Given the description of an element on the screen output the (x, y) to click on. 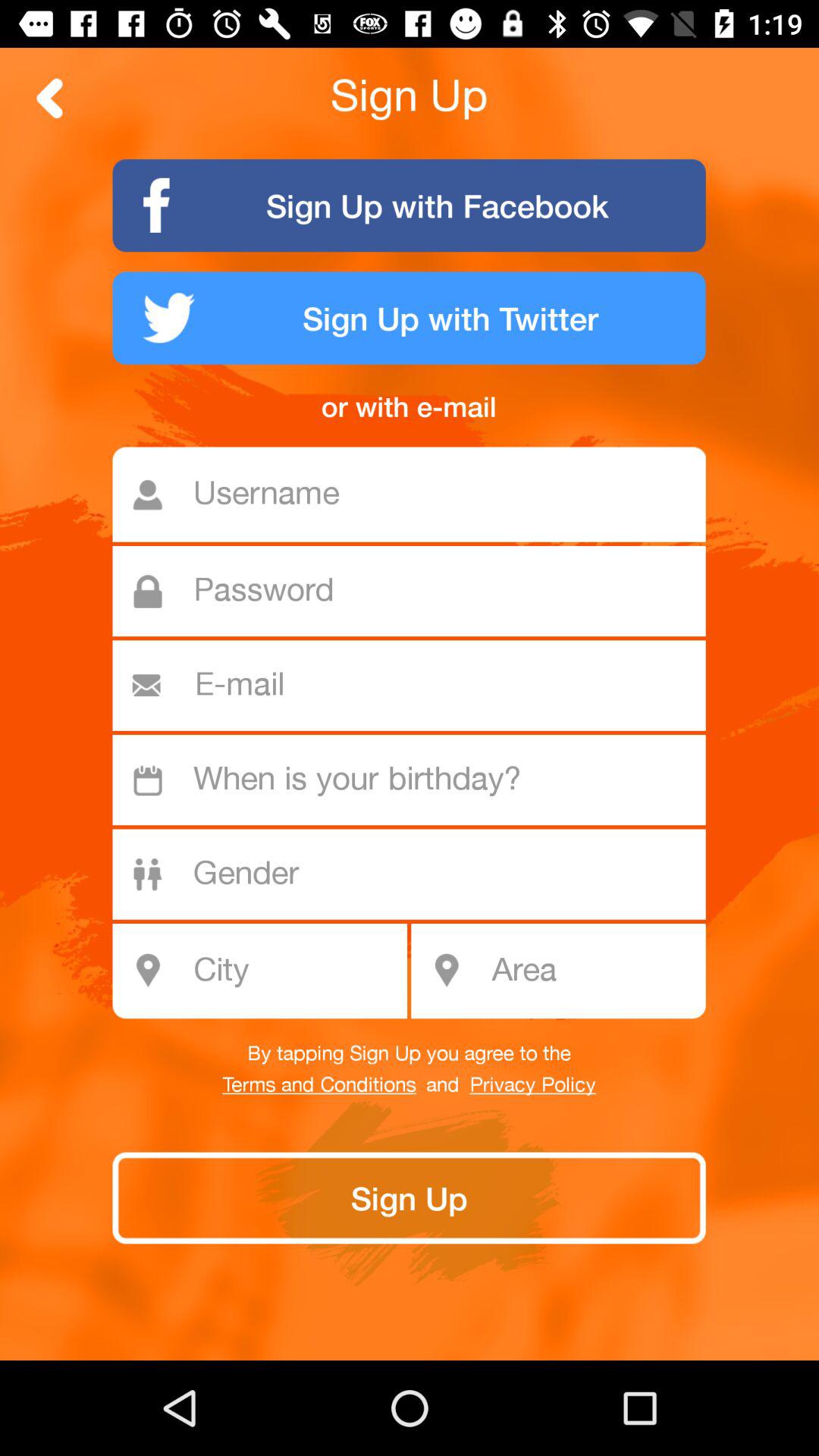
enter email (416, 685)
